Given the description of an element on the screen output the (x, y) to click on. 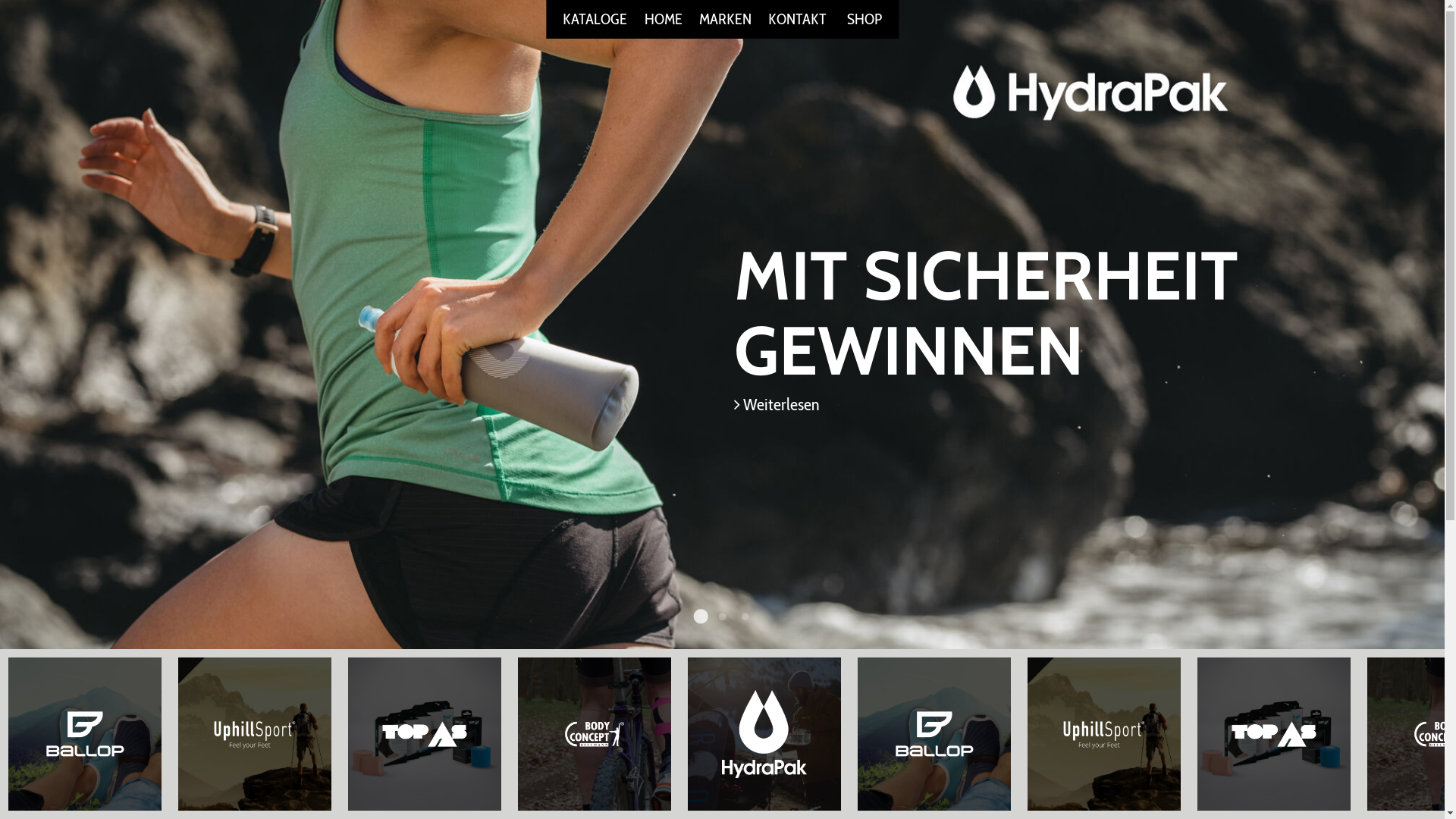
KATALOGE Element type: text (594, 18)
Weiterlesen Element type: text (776, 403)
MARKEN Element type: text (725, 18)
2 Element type: text (721, 616)
1 Element type: text (698, 616)
HOME Element type: text (663, 18)
KONTAKT Element type: text (797, 18)
3 Element type: text (744, 616)
SHOP Element type: text (864, 18)
